Given the description of an element on the screen output the (x, y) to click on. 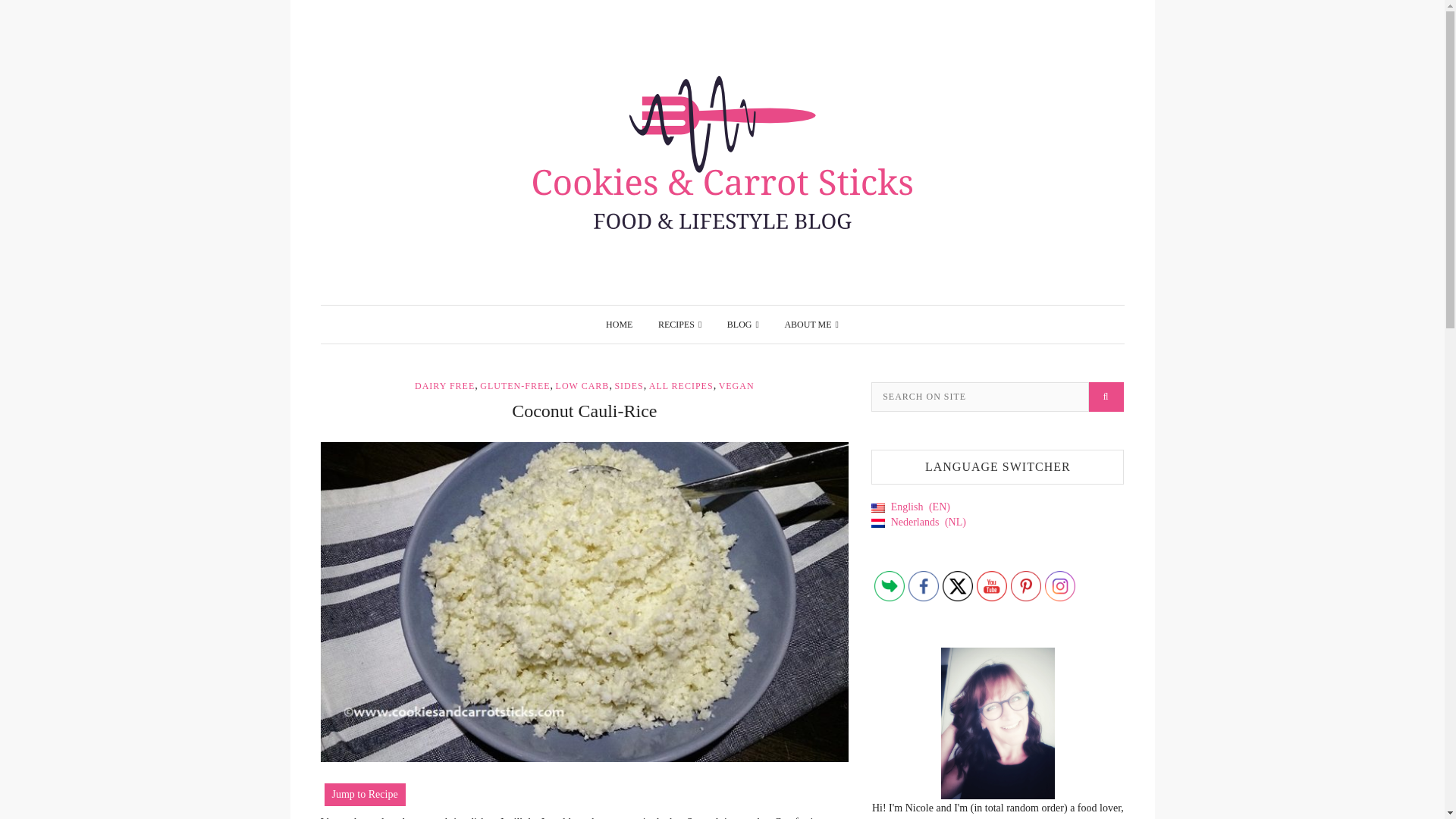
Pinterest (1025, 585)
ALL RECIPES (681, 385)
Follow me on Twitter (957, 585)
SIDES (628, 385)
RECIPES (679, 324)
LOW CARB (583, 385)
DAIRY FREE (444, 385)
GLUTEN-FREE (515, 385)
Like me on Facebook (923, 585)
ABOUT ME (811, 324)
